Given the description of an element on the screen output the (x, y) to click on. 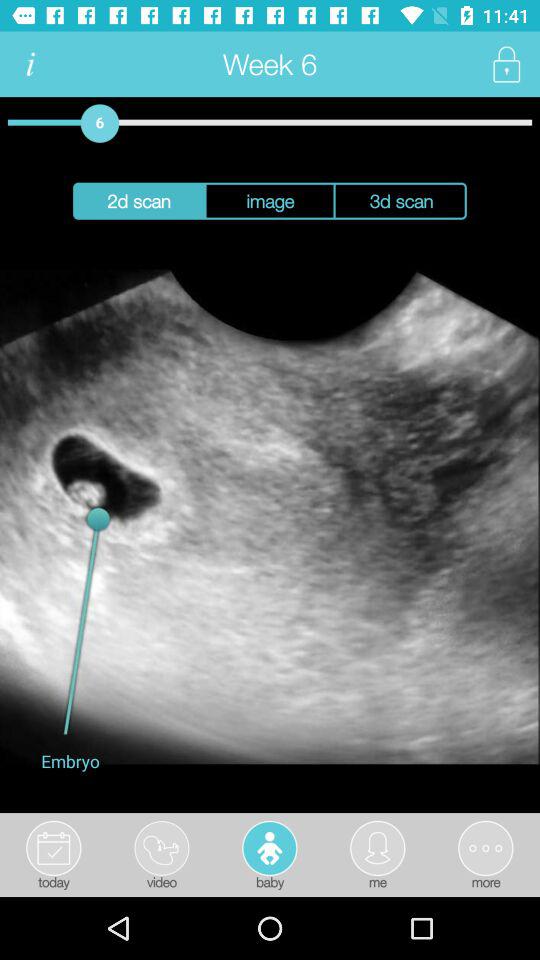
turn on the icon to the left of the week 6 app (30, 63)
